Given the description of an element on the screen output the (x, y) to click on. 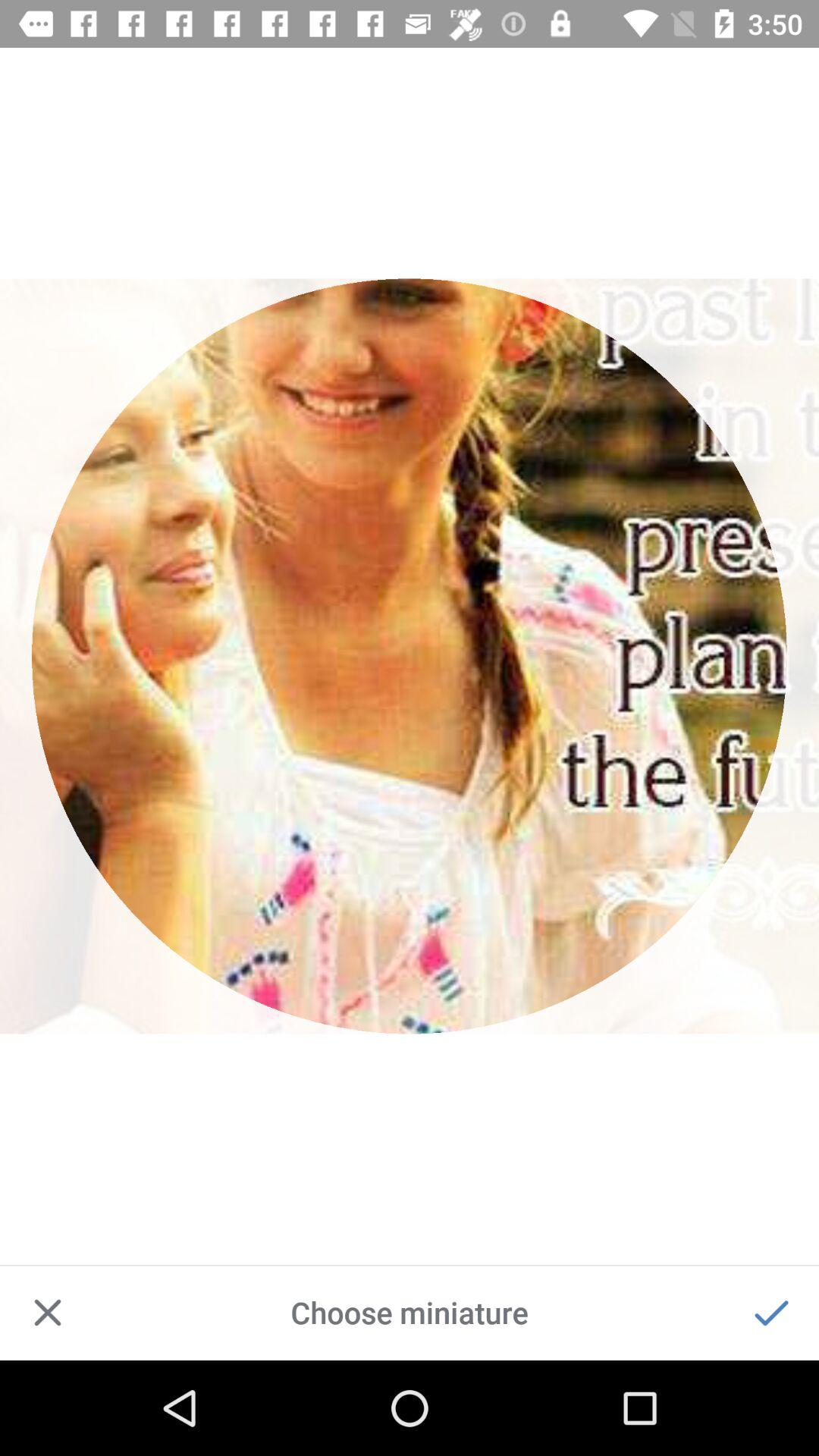
ok (771, 1312)
